Given the description of an element on the screen output the (x, y) to click on. 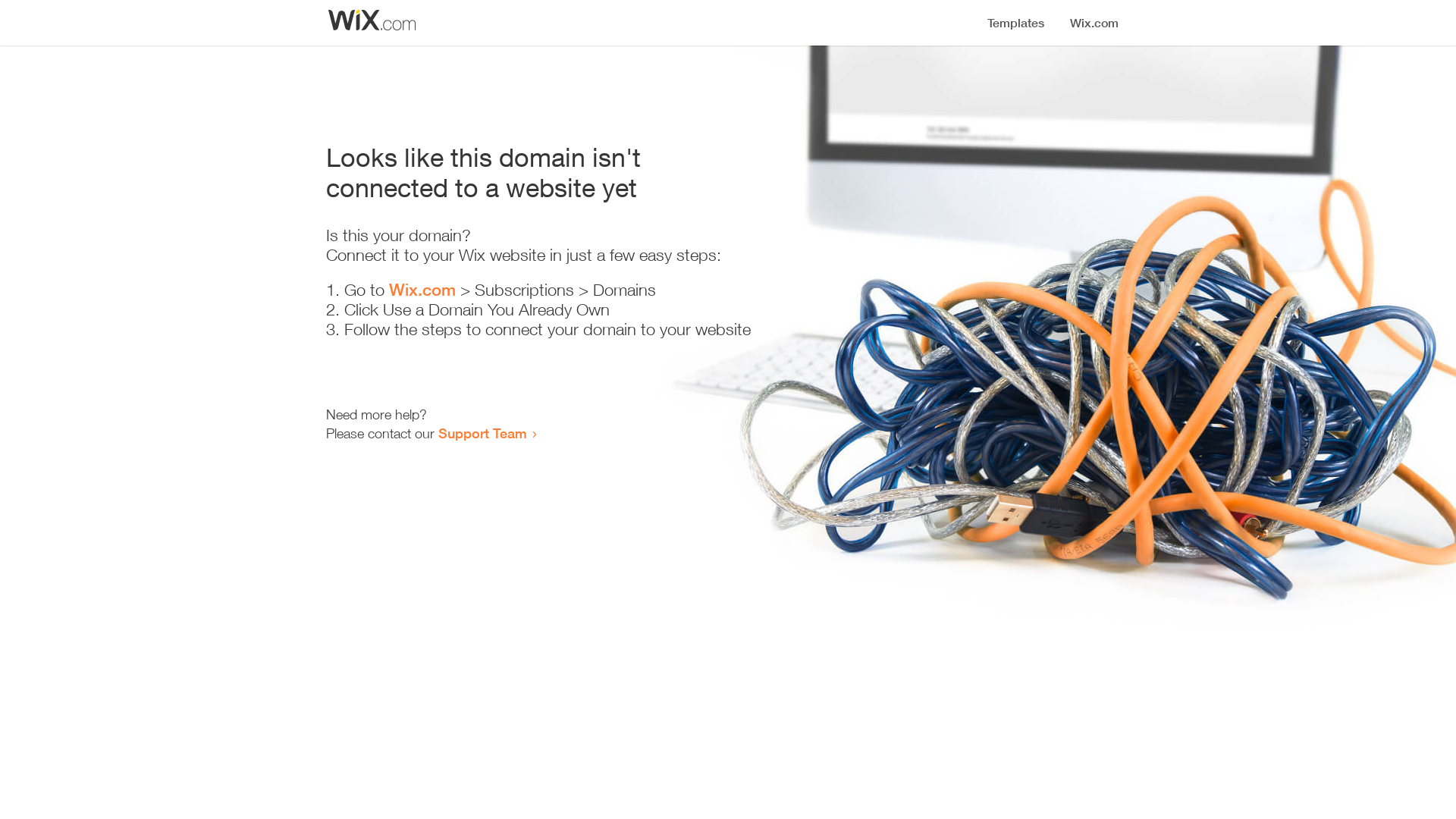
Support Team Element type: text (482, 432)
Wix.com Element type: text (422, 289)
